Given the description of an element on the screen output the (x, y) to click on. 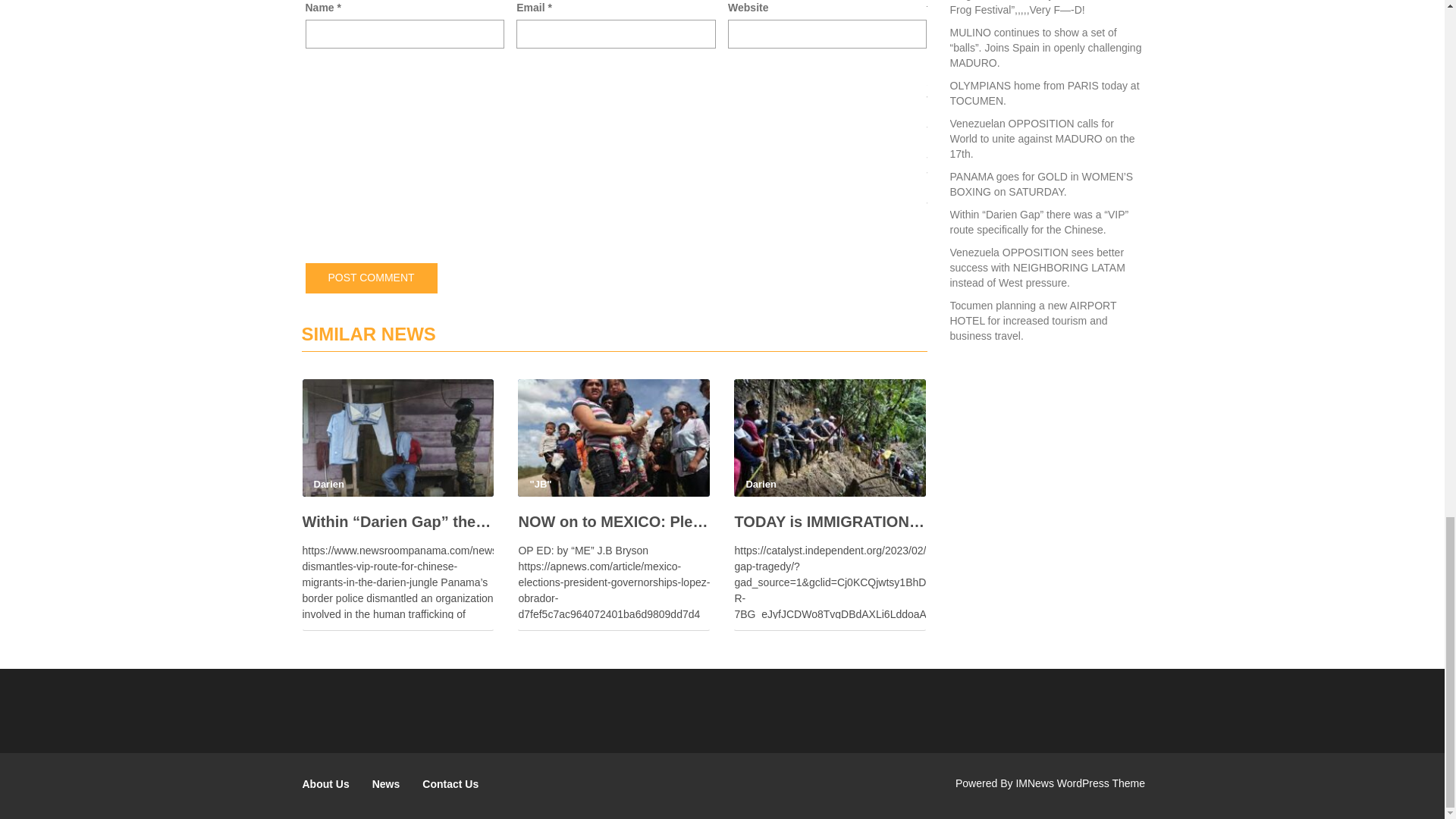
Post Comment (370, 277)
Post Comment (370, 277)
OLYMPIANS home from PARIS today at TOCUMEN. (1043, 93)
News (386, 783)
NOW on to MEXICO: Please be informed and know the TRUTH (614, 521)
Contact Us (449, 783)
